Given the description of an element on the screen output the (x, y) to click on. 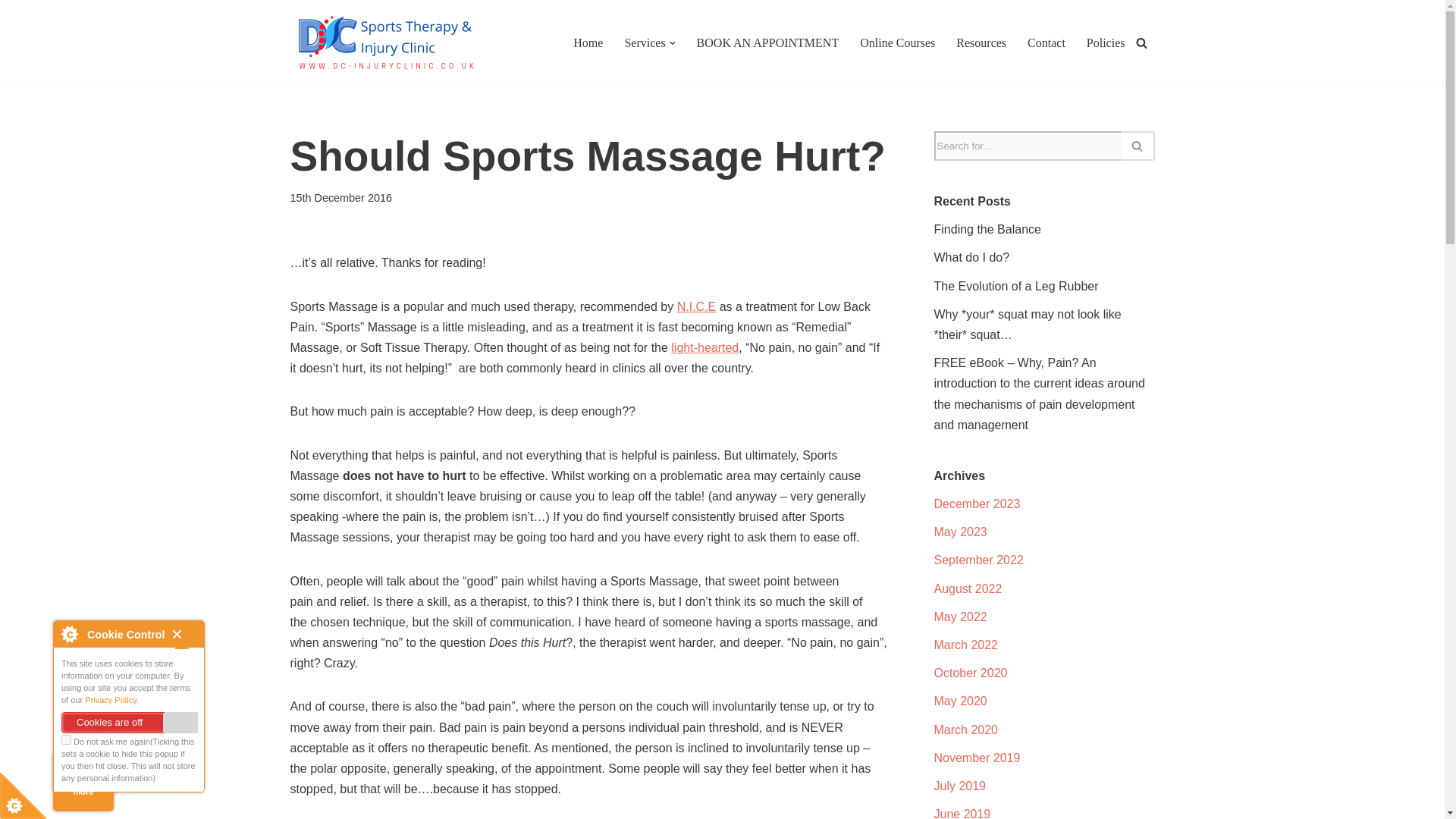
Close (184, 639)
Services (644, 42)
BOOK AN APPOINTMENT (768, 42)
Skip to content (11, 31)
Y (66, 739)
Contact (1046, 42)
Resources (981, 42)
Policies (1105, 42)
read more (82, 782)
Online Courses (897, 42)
